Given the description of an element on the screen output the (x, y) to click on. 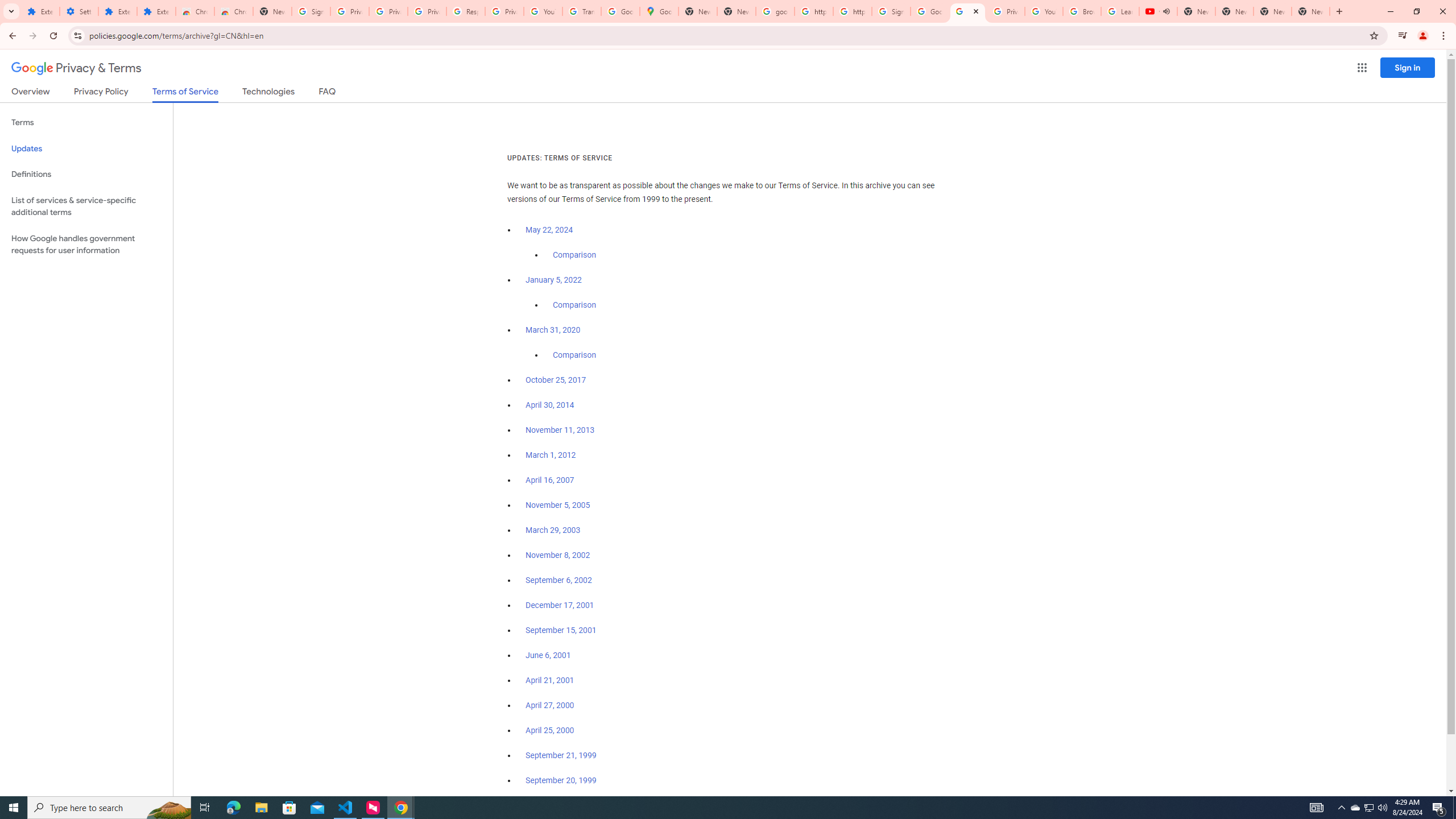
Privacy & Terms (76, 68)
Extensions (117, 11)
YouTube (542, 11)
FAQ (327, 93)
Extensions (40, 11)
April 21, 2001 (550, 679)
Definitions (86, 174)
June 6, 2001 (547, 655)
Mute tab (1165, 10)
